Given the description of an element on the screen output the (x, y) to click on. 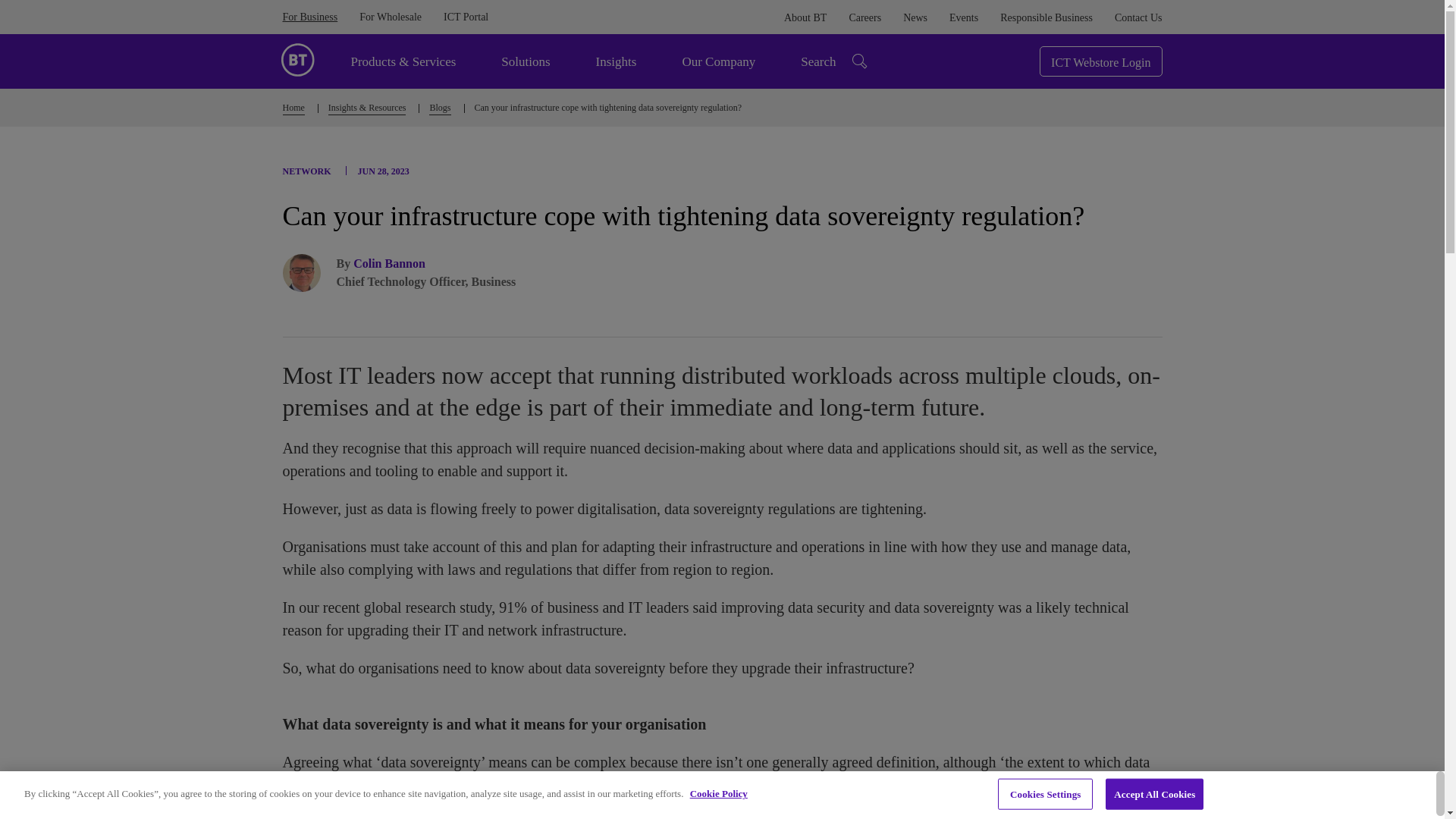
Contact Us (1138, 17)
ICT Webstore Login (1100, 60)
About BT (805, 17)
Responsible Business (1046, 17)
News (914, 17)
ICT Portal (465, 16)
For Wholesale (390, 16)
BT Ireland (297, 58)
Home (293, 108)
Our Company (718, 61)
Careers (864, 17)
Events (963, 17)
For Business (309, 16)
